Given the description of an element on the screen output the (x, y) to click on. 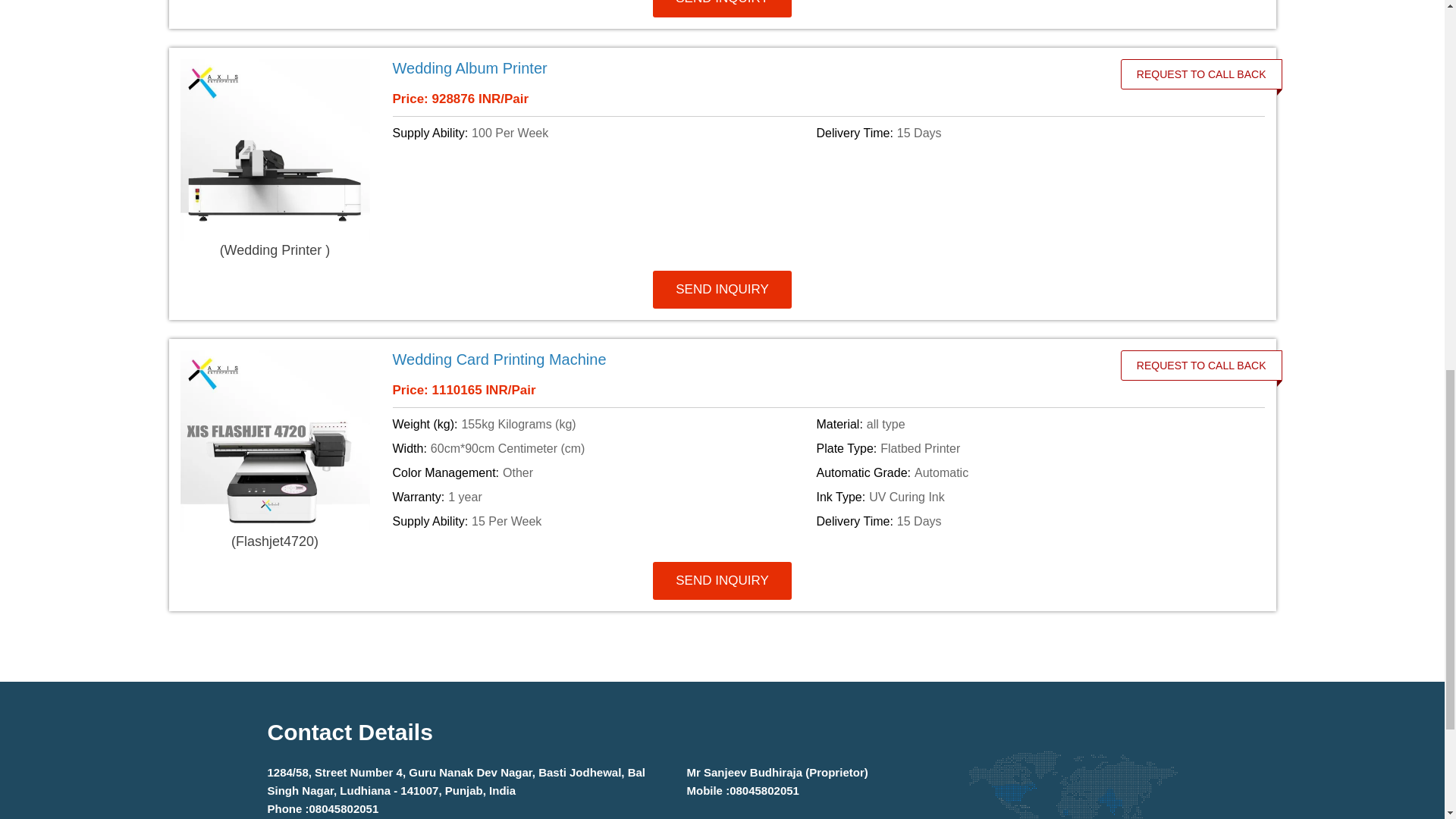
Supply Ability: 100 Per Week (601, 133)
Wedding Card Printing Machine (741, 359)
Wedding Album Printer (741, 67)
Material: all type (1024, 424)
Delivery Time: 15 Days (1024, 133)
